Given the description of an element on the screen output the (x, y) to click on. 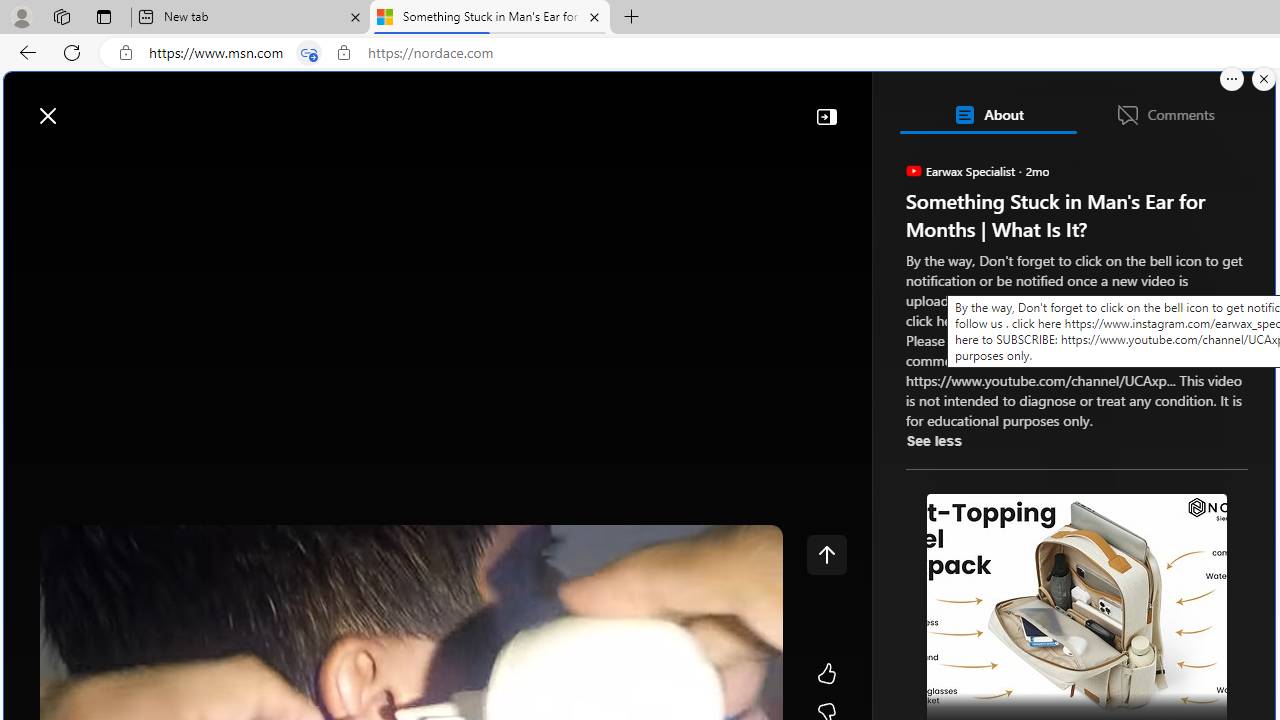
Collapse (826, 115)
Discover (84, 162)
Close tab (594, 16)
Refresh (72, 52)
Back (24, 52)
Enter your search term (644, 106)
Ad Choice (1212, 439)
Personalize (1195, 162)
Comments (1165, 114)
Skip to content (86, 105)
Tab actions menu (104, 16)
Open navigation menu (29, 162)
